Given the description of an element on the screen output the (x, y) to click on. 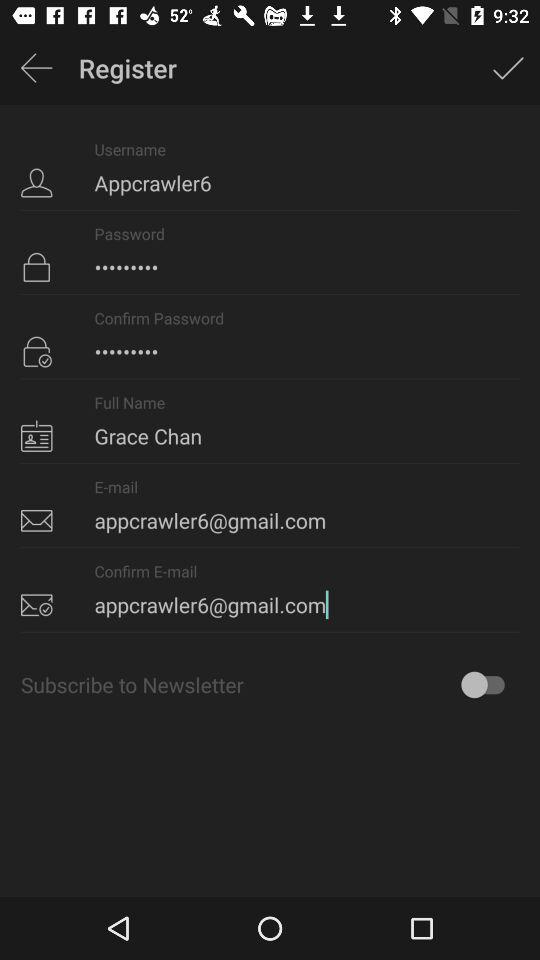
flip until subscribe to newsletter icon (270, 684)
